Given the description of an element on the screen output the (x, y) to click on. 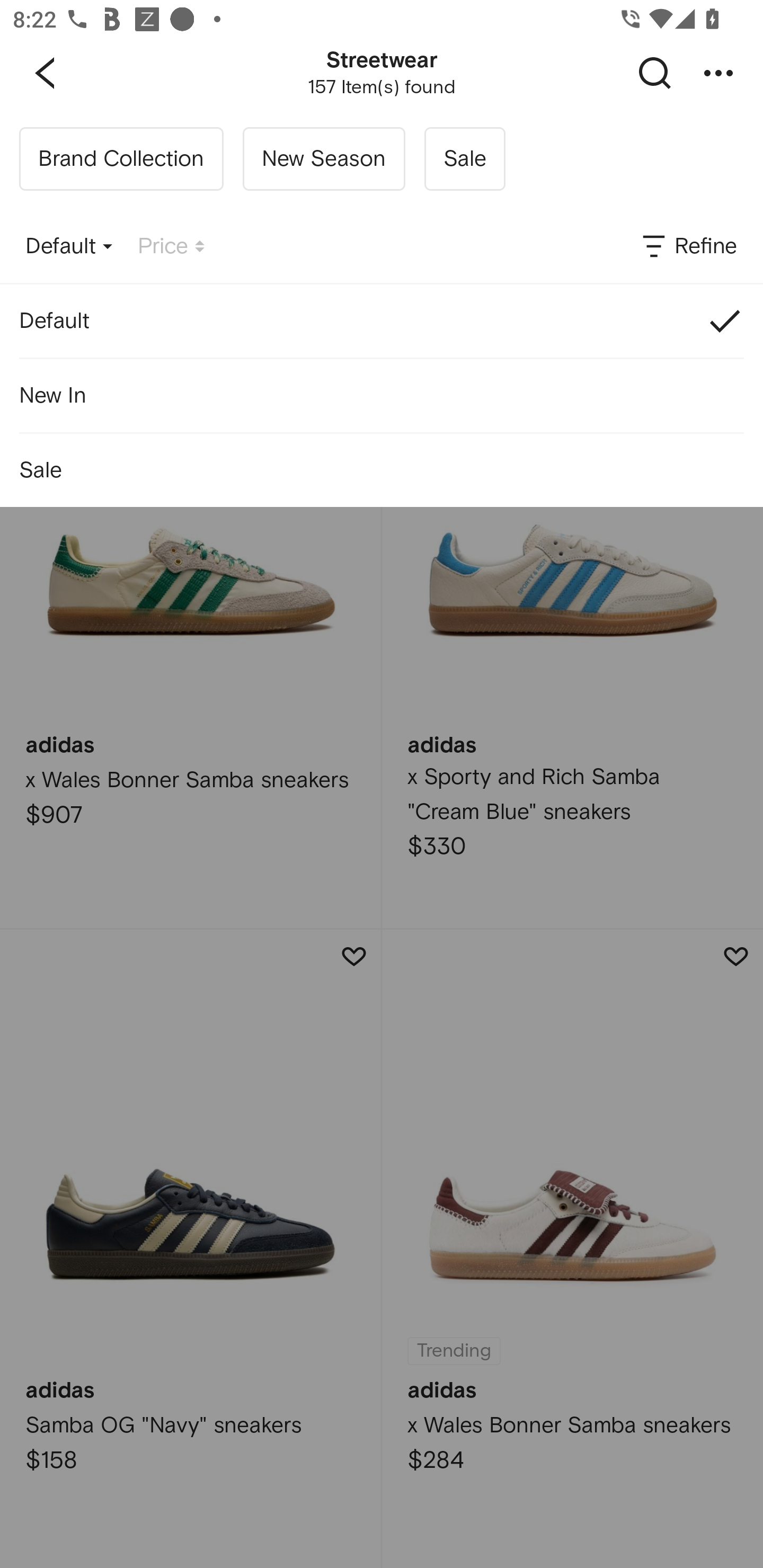
Brand Collection (121, 158)
New Season (323, 158)
Sale (464, 158)
Default (68, 246)
Price (171, 246)
Refine (688, 246)
Default (381, 320)
New In (381, 394)
Sale (381, 470)
